Given the description of an element on the screen output the (x, y) to click on. 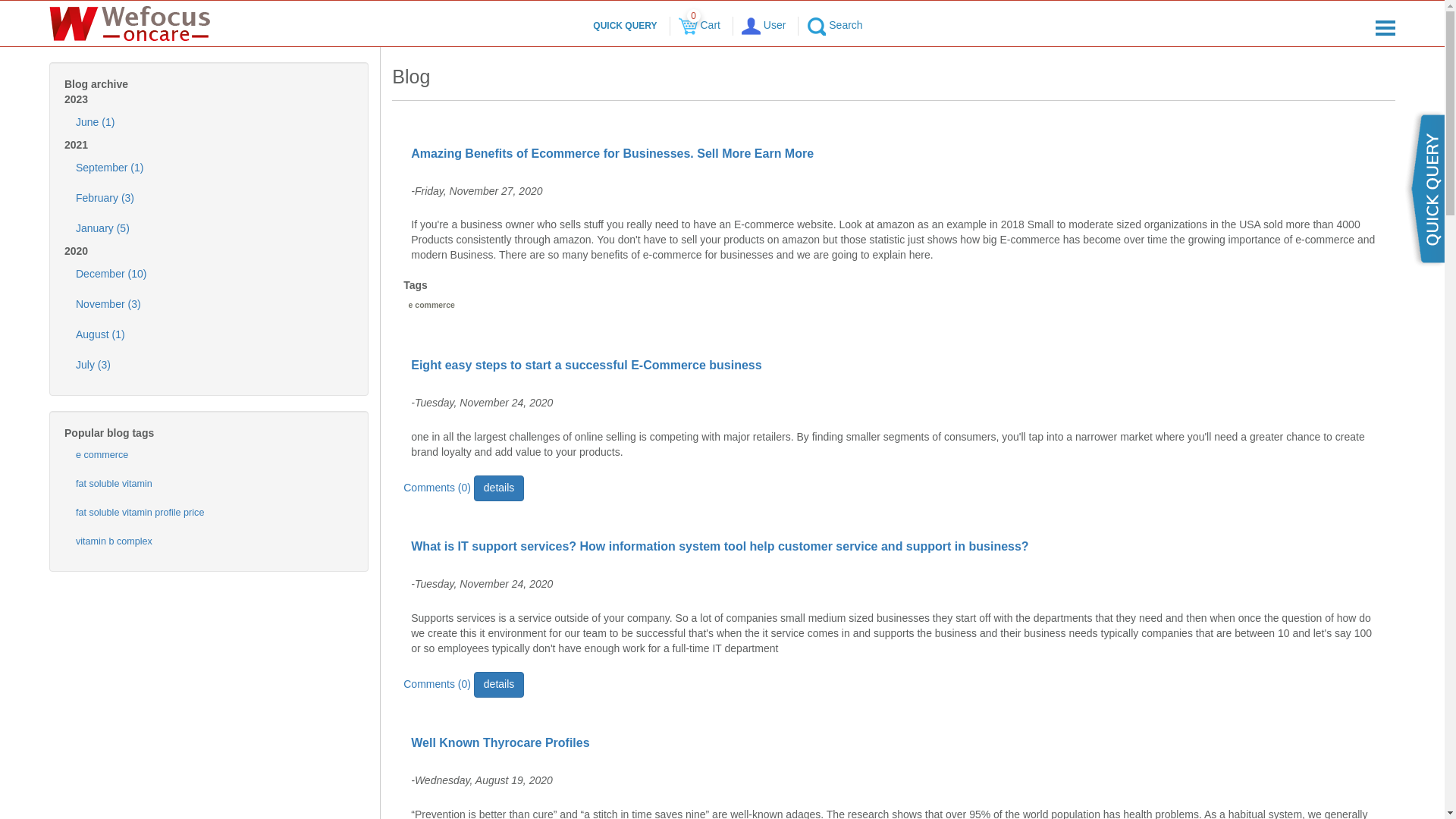
Search (834, 24)
QUICK QUERY (624, 25)
Cart (687, 26)
User (763, 24)
User Search (815, 26)
Cart (699, 24)
User Links (750, 26)
